Given the description of an element on the screen output the (x, y) to click on. 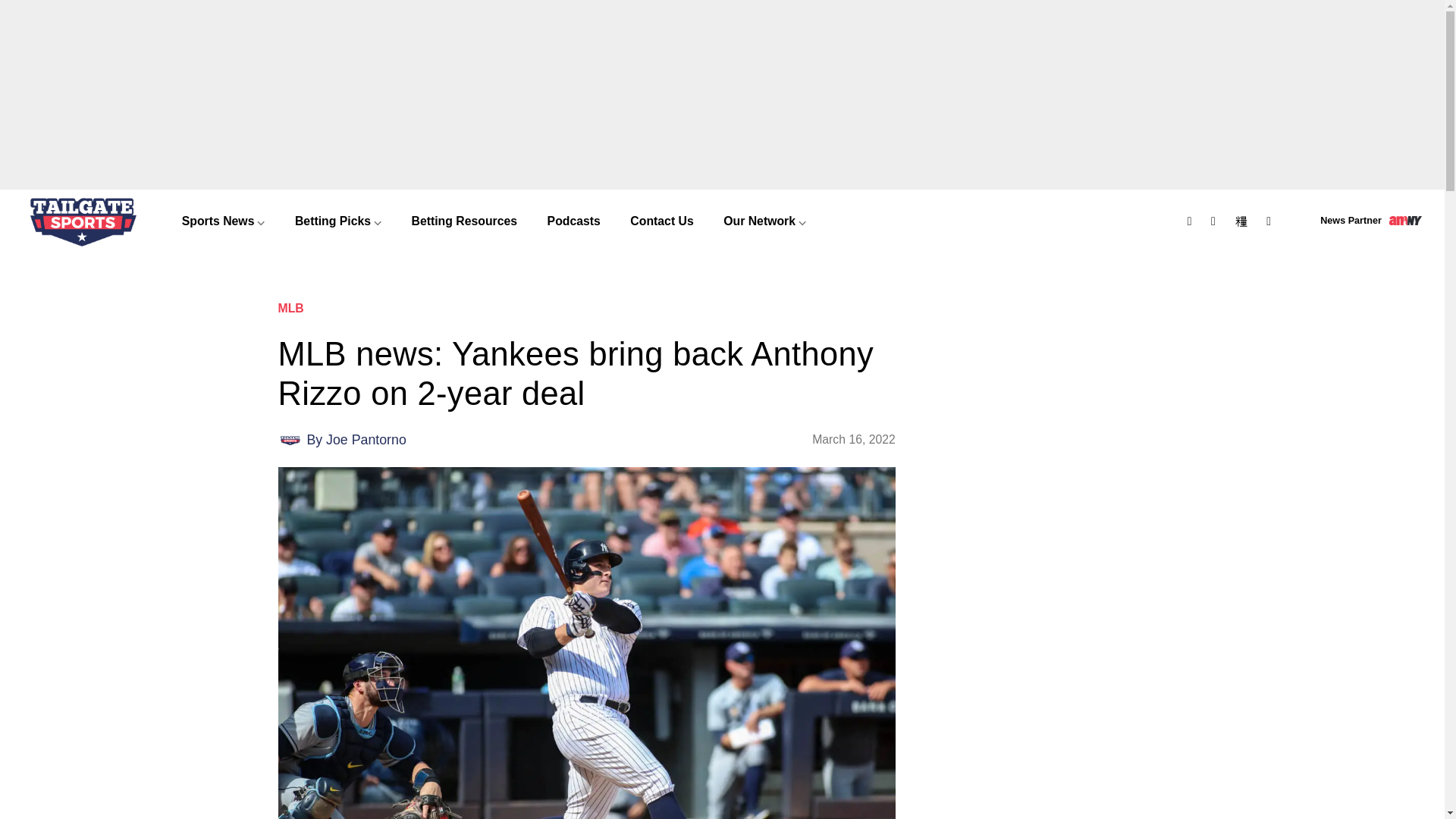
Betting Resources (464, 221)
Sports News (223, 221)
Contact Us (662, 221)
Posts by Joe Pantorno (366, 439)
Podcasts (573, 221)
Betting Picks (337, 221)
News Partner (1371, 221)
Our Network (764, 221)
